Given the description of an element on the screen output the (x, y) to click on. 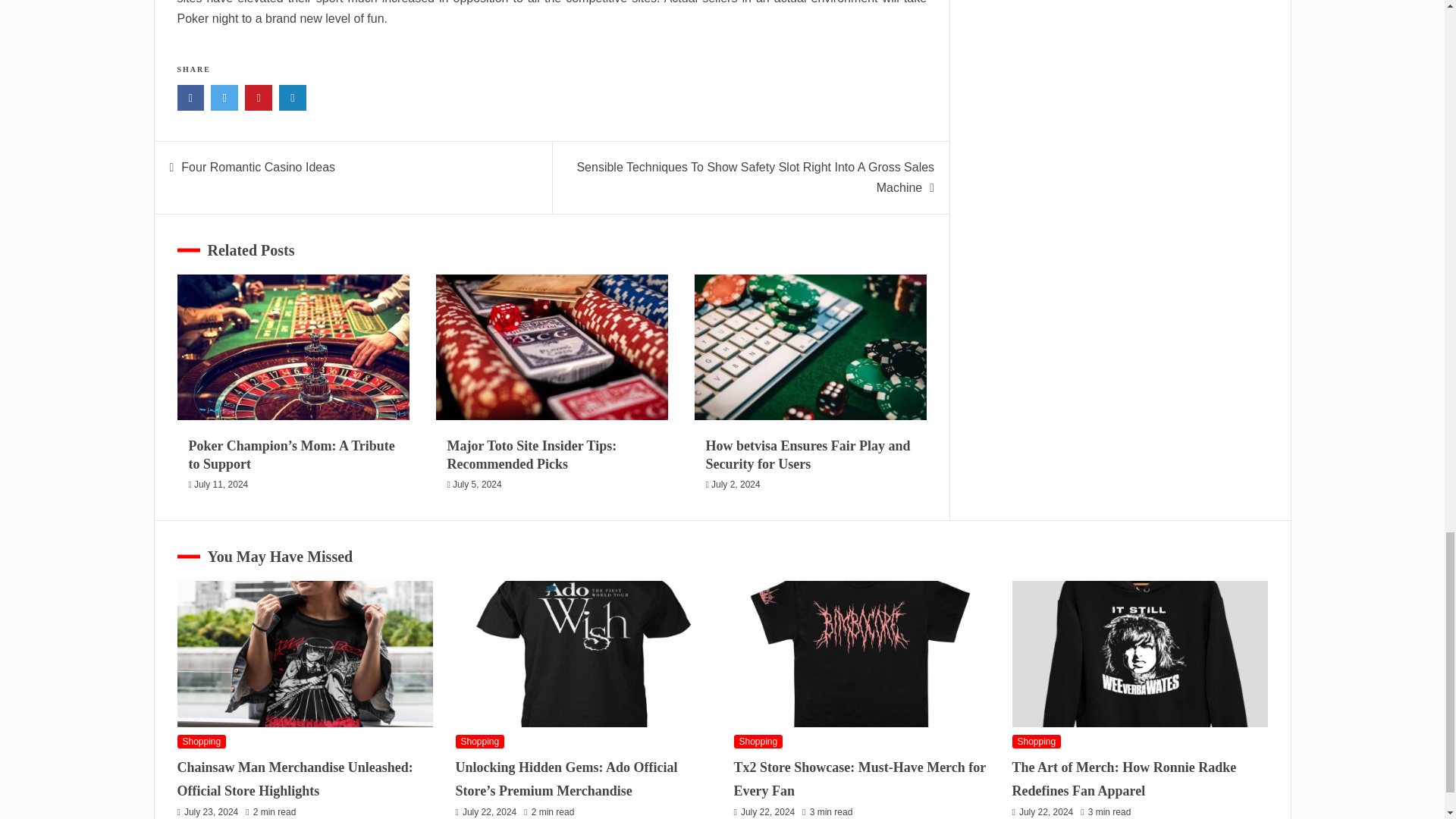
How betvisa Ensures Fair Play and Security for Users (808, 454)
Four Romantic Casino Ideas (257, 166)
July 5, 2024 (477, 484)
July 2, 2024 (735, 484)
Major Toto Site Insider Tips: Recommended Picks (531, 454)
July 11, 2024 (220, 484)
